Given the description of an element on the screen output the (x, y) to click on. 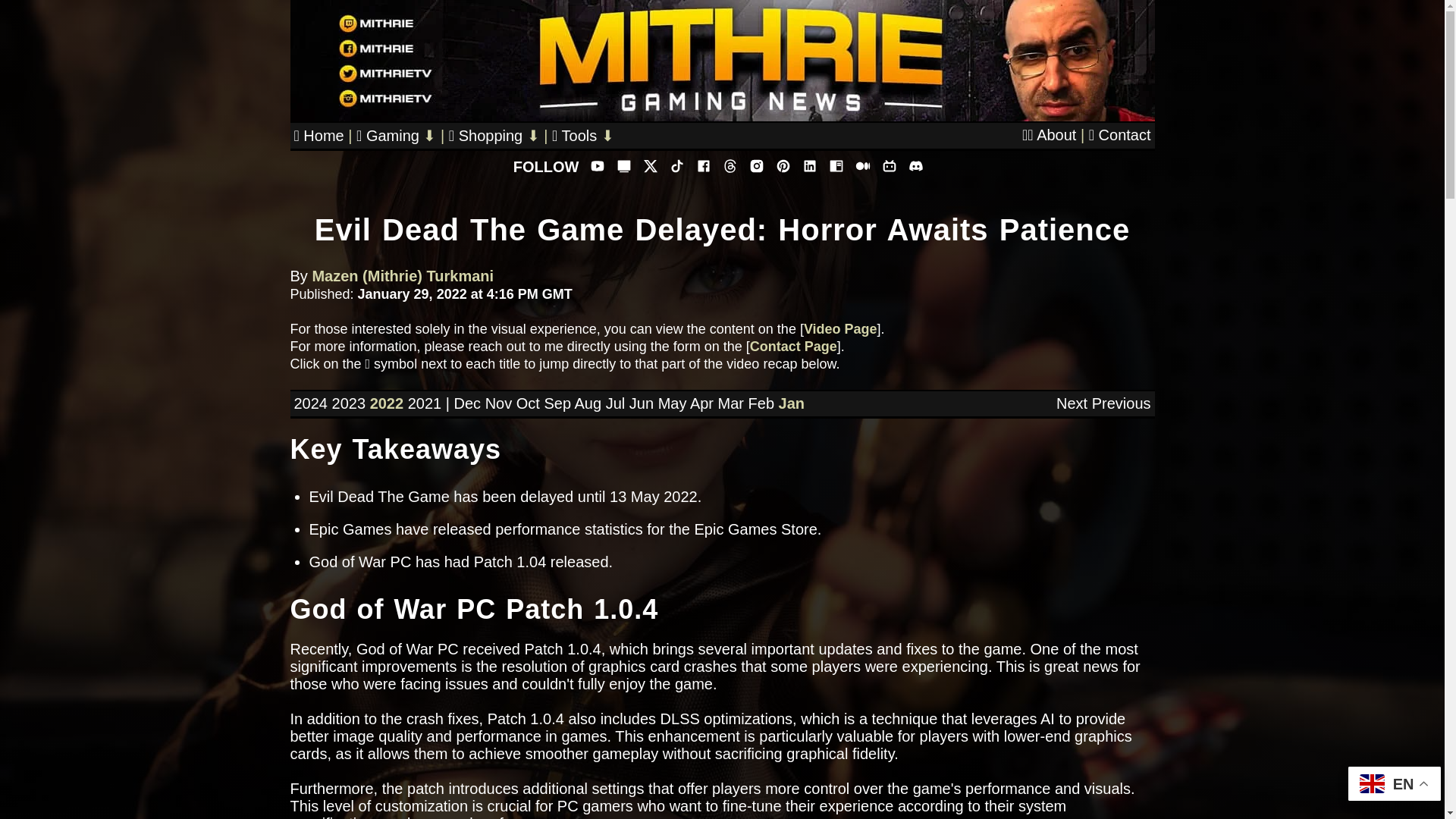
Contact Page (793, 346)
Dec (466, 402)
Video Page (840, 328)
2023 (348, 402)
2024 (311, 402)
2021 (424, 402)
